Given the description of an element on the screen output the (x, y) to click on. 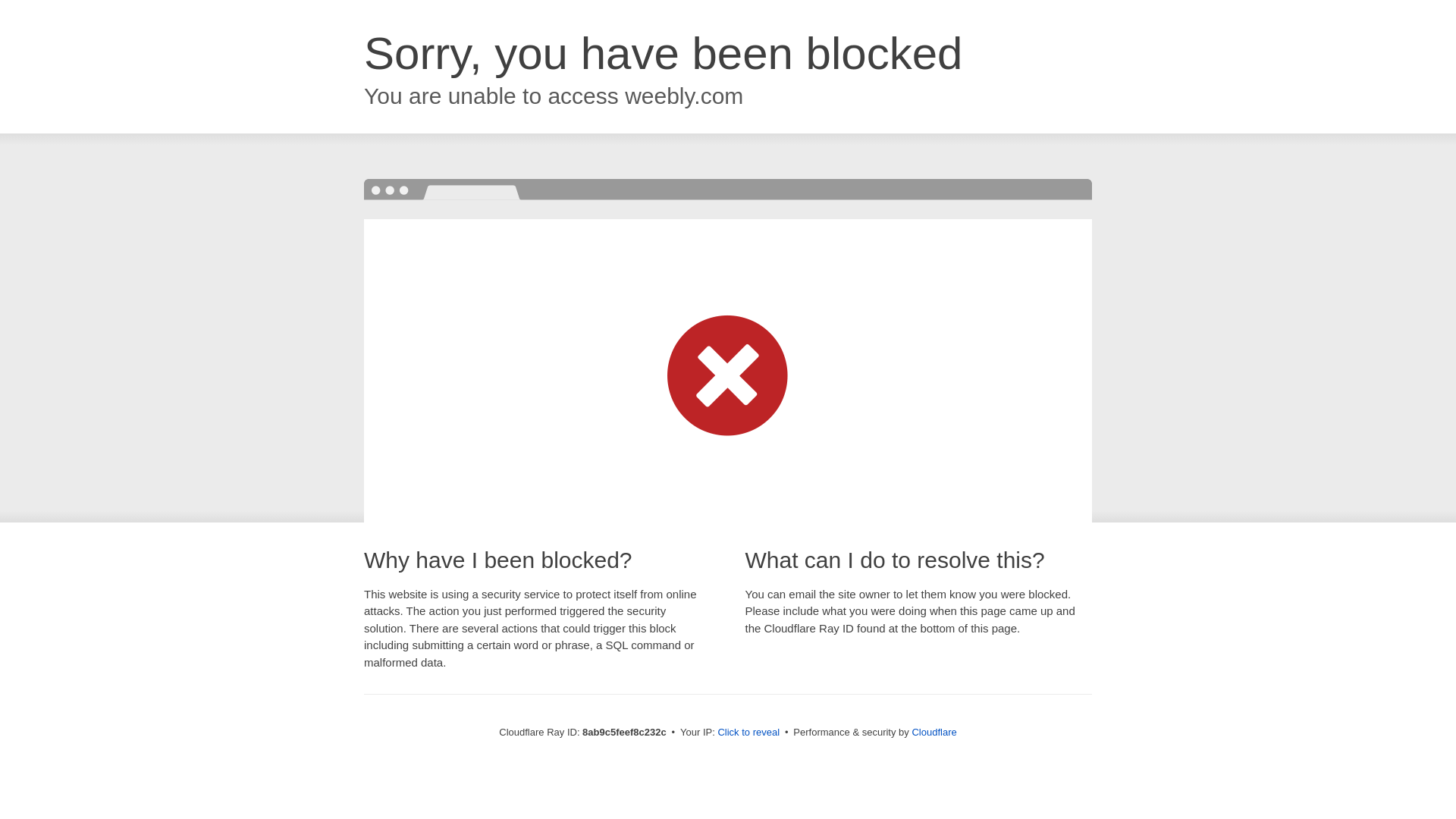
Cloudflare (933, 731)
Click to reveal (747, 732)
